Given the description of an element on the screen output the (x, y) to click on. 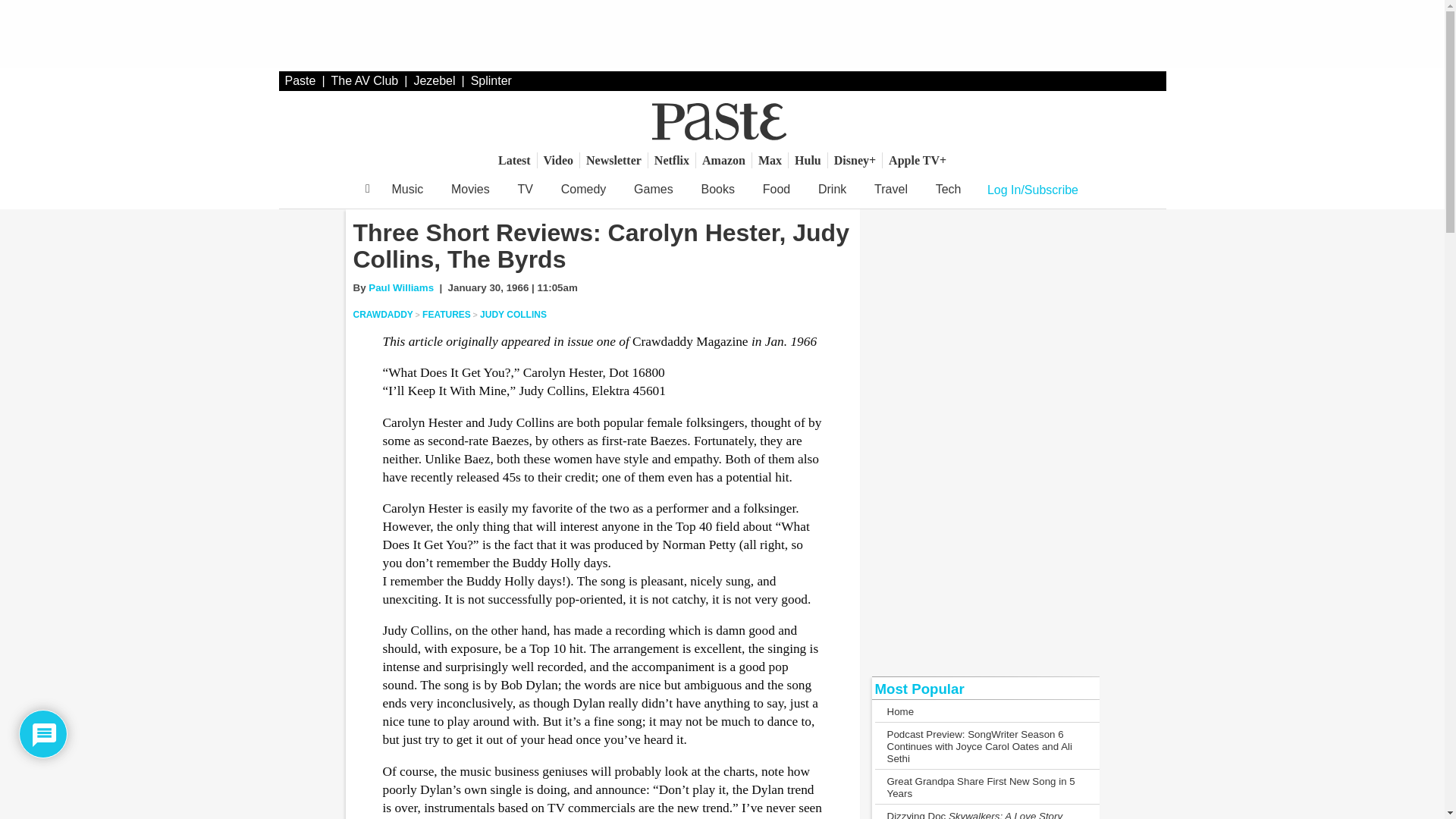
Paste (300, 80)
Latest (514, 160)
Jezebel (433, 80)
Splinter (491, 80)
Hulu (808, 160)
The AV Club (364, 80)
Newsletter (613, 160)
Amazon (723, 160)
Video (558, 160)
Netflix (671, 160)
Max (769, 160)
